Given the description of an element on the screen output the (x, y) to click on. 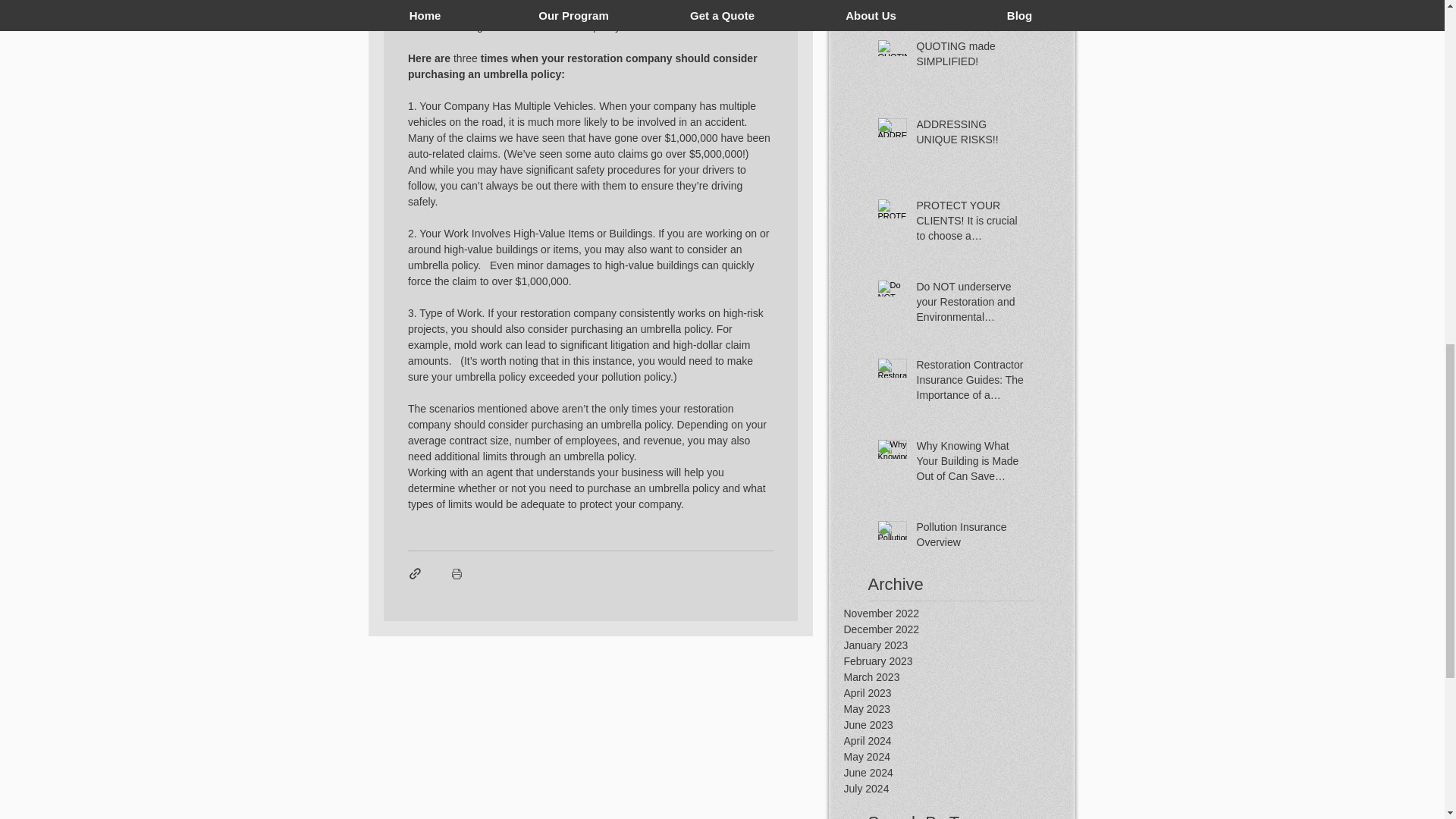
February 2023 (958, 661)
May 2023 (958, 709)
December 2022 (958, 629)
June 2023 (958, 725)
Pollution Insurance Overview (970, 538)
June 2024 (958, 772)
January 2023 (958, 645)
March 2023 (958, 677)
May 2024 (958, 756)
Enhance Client Relationships and Boost Sales (970, 4)
July 2024 (958, 788)
ADDRESSING UNIQUE RISKS!! (970, 135)
